Given the description of an element on the screen output the (x, y) to click on. 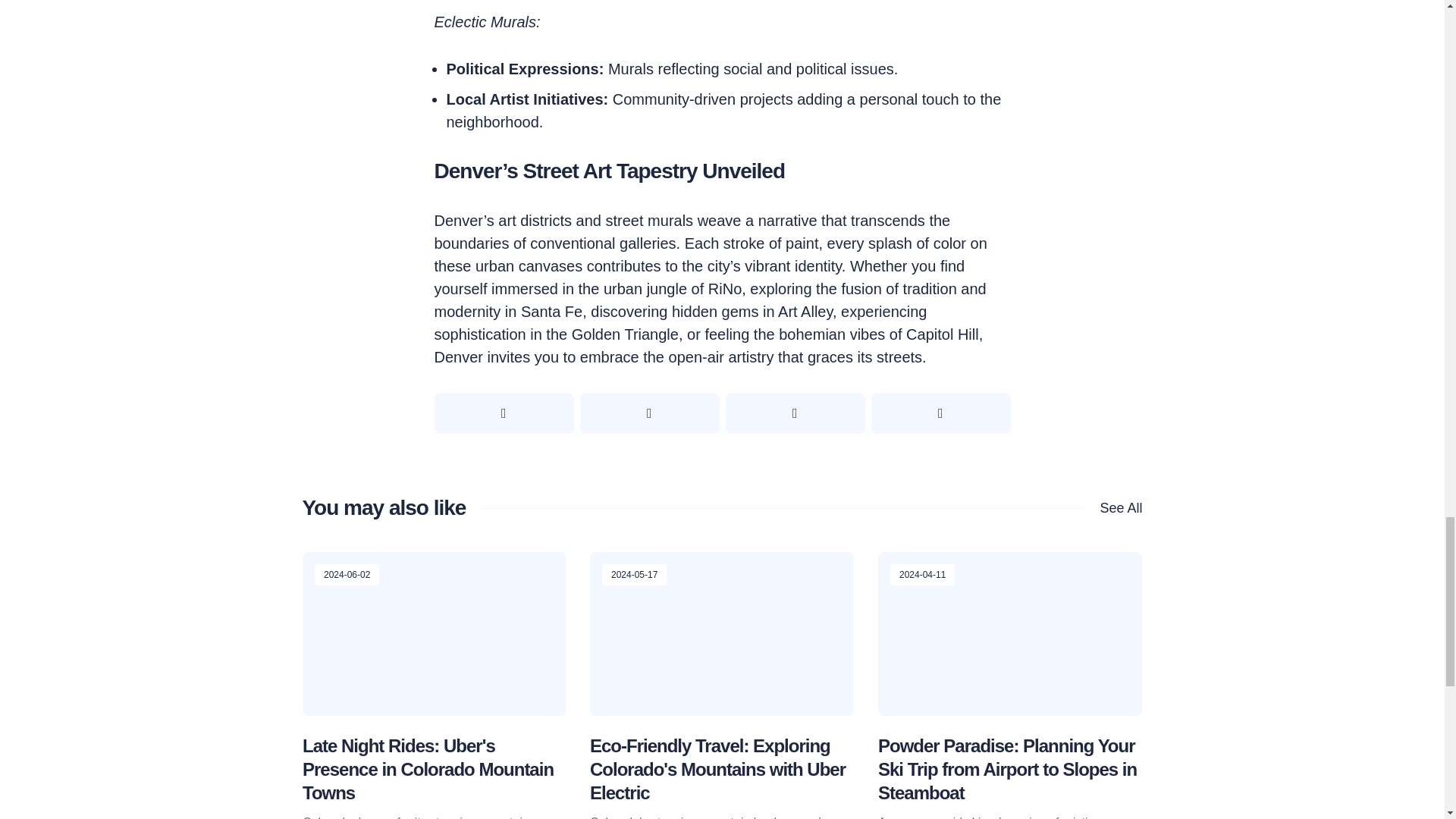
See All (1112, 507)
Late Night Rides: Uber's Presence in Colorado Mountain Towns (427, 769)
Share on Twitter (503, 413)
Share on LinkedIn (940, 413)
Share on Facebook (649, 413)
Share on Pinterest (794, 413)
